Given the description of an element on the screen output the (x, y) to click on. 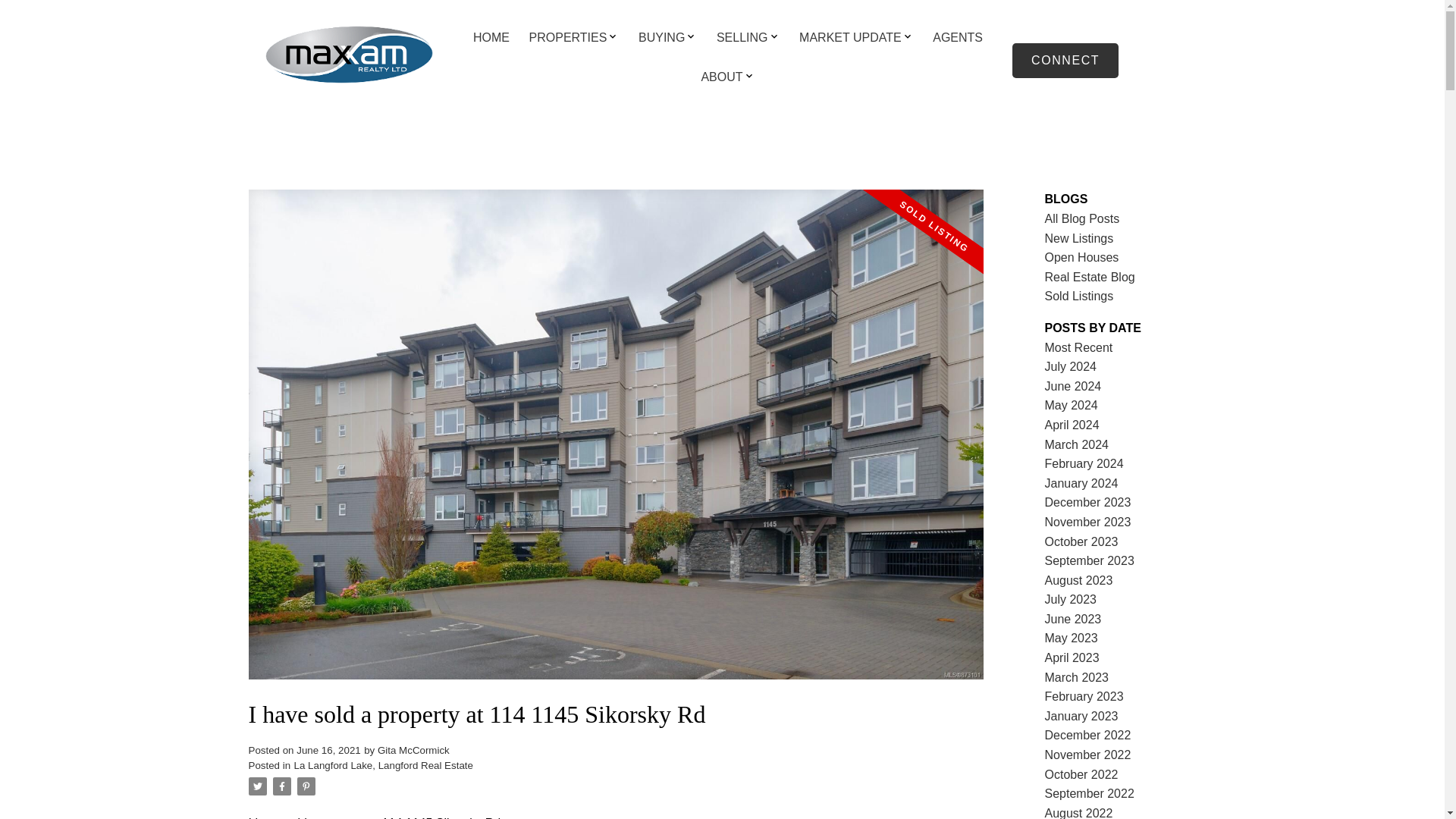
May 2024 (1071, 404)
Open Houses (1082, 256)
Real Estate Blog (1090, 277)
SELLING (742, 37)
ABOUT (721, 77)
Most Recent (1079, 347)
All Blog Posts (1082, 218)
New Listings (1079, 237)
La Langford Lake, Langford Real Estate (383, 765)
June 2024 (1073, 386)
HOME (491, 37)
PROPERTIES (568, 37)
AGENTS (957, 37)
BUYING (661, 37)
Sold Listings (1079, 295)
